Given the description of an element on the screen output the (x, y) to click on. 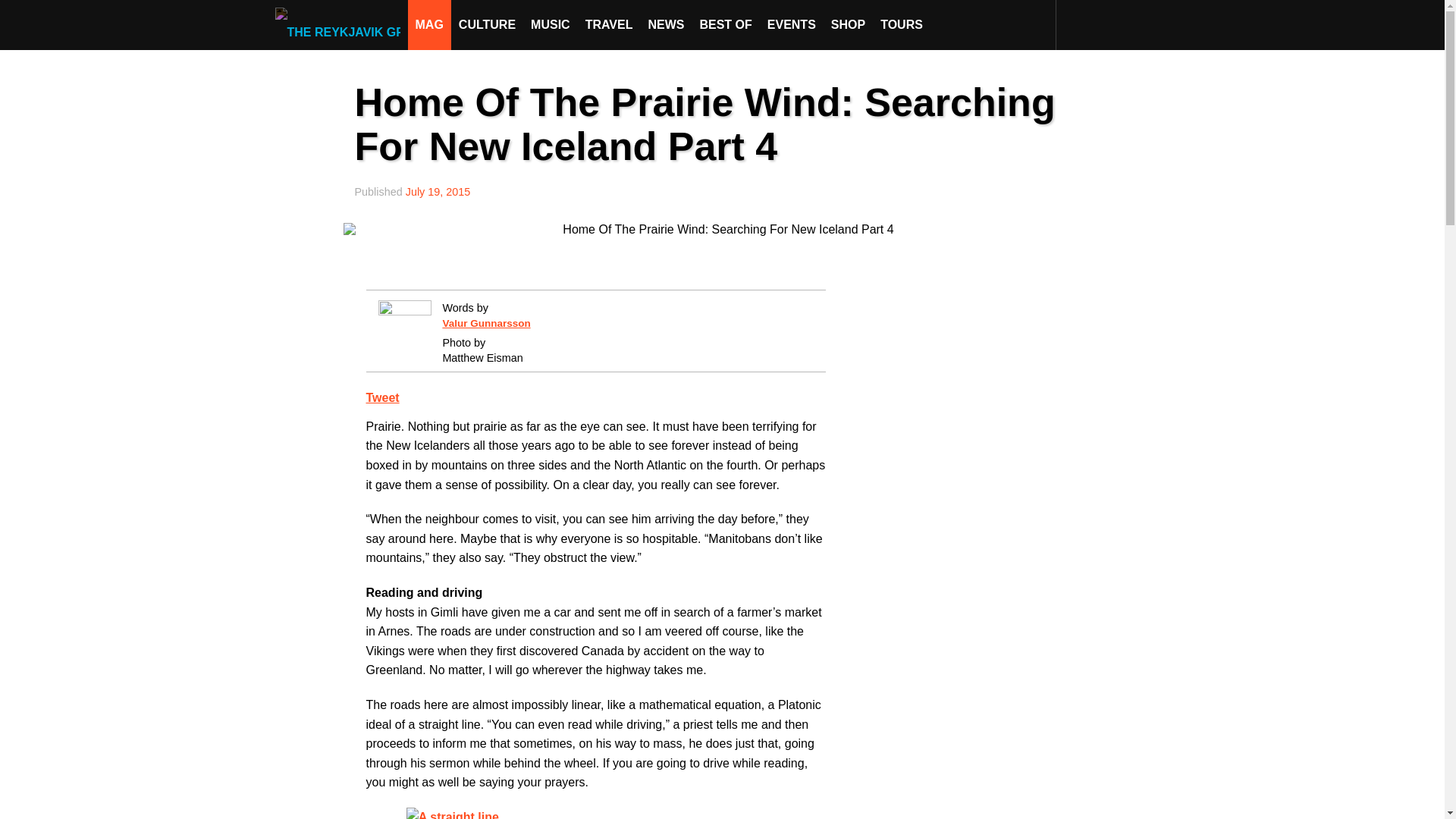
SHOP (848, 24)
Posts by Valur Gunnarsson (485, 323)
Valur Gunnarsson (485, 323)
NEWS (665, 24)
BEST OF (724, 24)
The Reykjavik Grapevine (341, 24)
CULTURE (486, 24)
TRAVEL (609, 24)
Tweet (381, 397)
TOURS (901, 24)
EVENTS (792, 24)
MUSIC (550, 24)
